Given the description of an element on the screen output the (x, y) to click on. 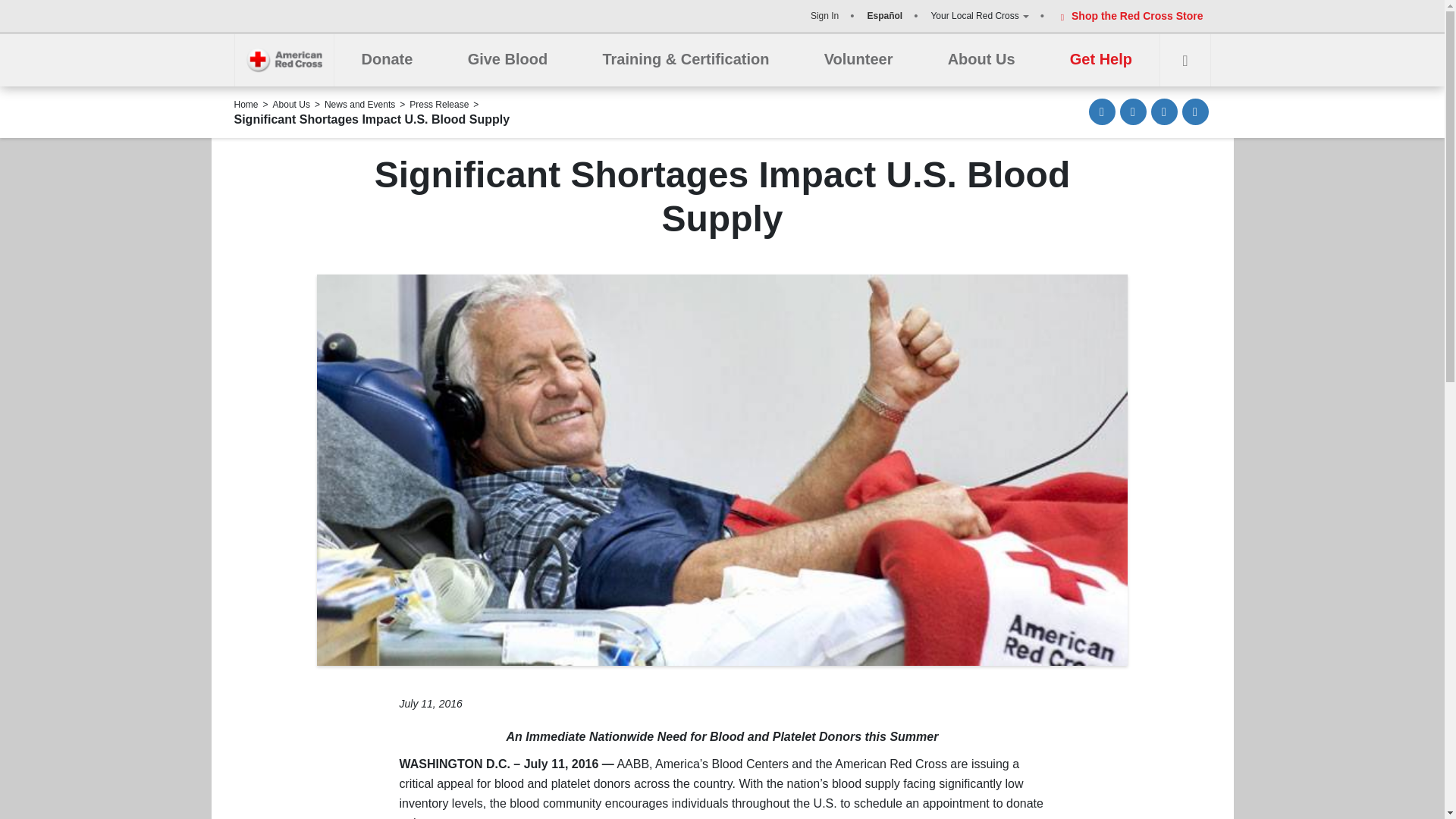
Sign In (823, 15)
Shop the Red Cross Store (1128, 15)
Donate (387, 59)
Other share options (1194, 111)
Share via Email (1102, 111)
Your Local Red Cross (977, 15)
Share on Facebook (1132, 111)
Tweet (1164, 111)
